Given the description of an element on the screen output the (x, y) to click on. 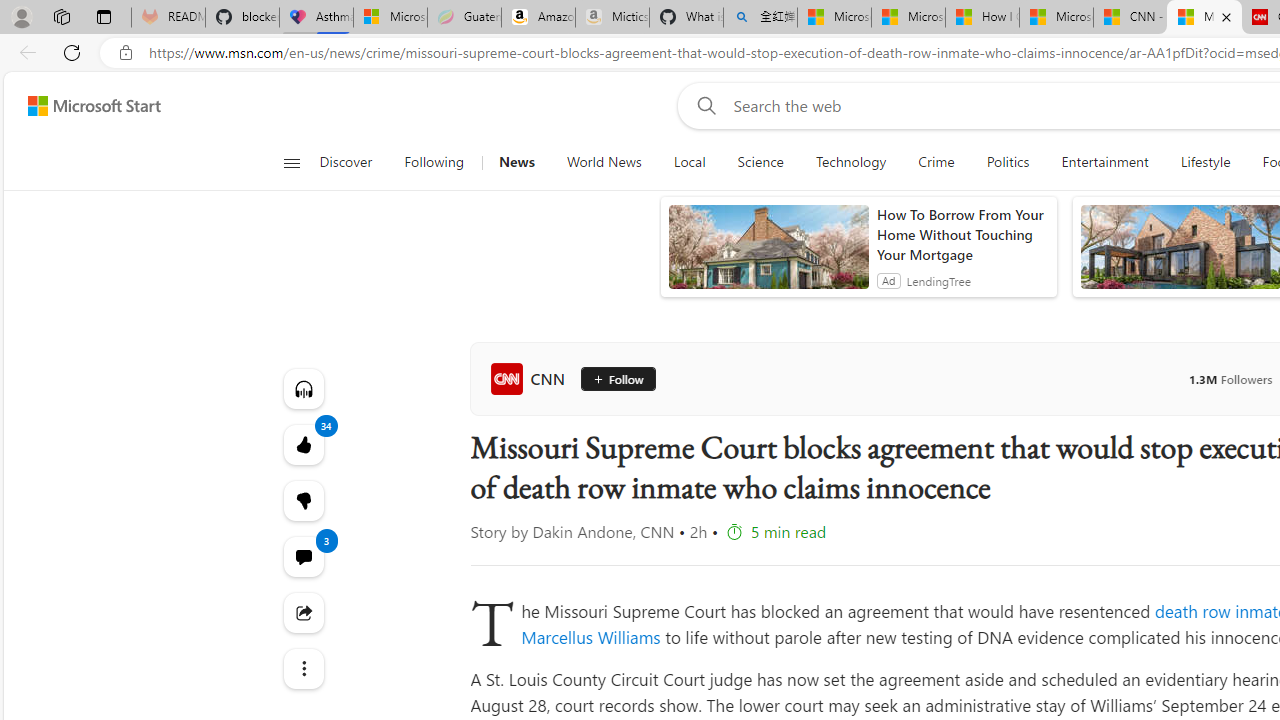
News (516, 162)
Share this story (302, 612)
Microsoft Start (94, 105)
Microsoft-Report a Concern to Bing (390, 17)
Crime (936, 162)
Web search (702, 105)
Dislike (302, 500)
Following (434, 162)
Ad (888, 280)
Local (688, 162)
World News (603, 162)
LendingTree (938, 280)
